Given the description of an element on the screen output the (x, y) to click on. 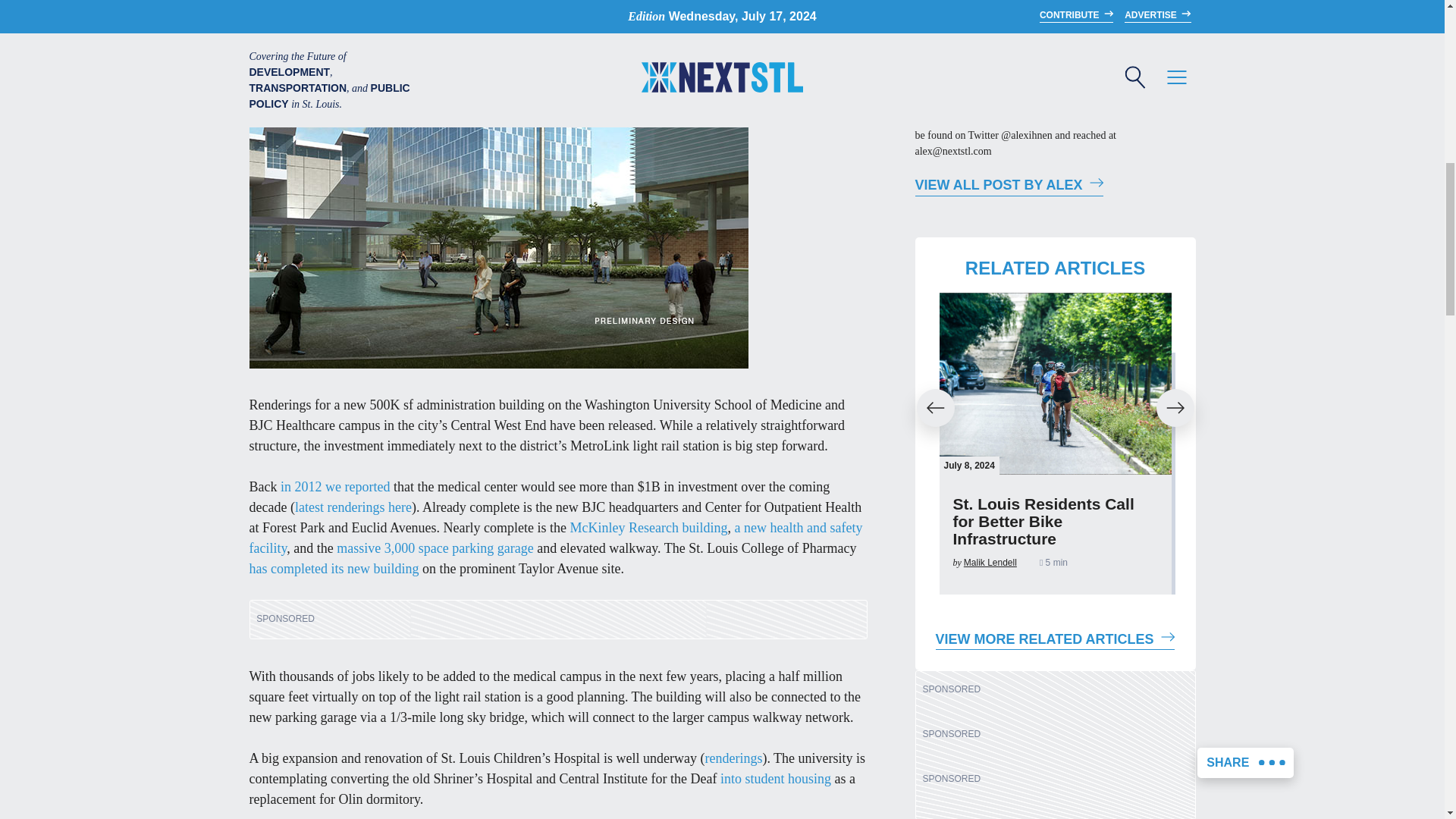
McKinley Research building (649, 527)
a new health and safety facility (554, 538)
Alex Ihnen (944, 38)
massive 3,000 space parking garage (434, 548)
has completed its new building (333, 568)
renderings (732, 758)
latest renderings here (353, 507)
in 2012 we reported (335, 486)
Alex Ihnen (1008, 186)
